Given the description of an element on the screen output the (x, y) to click on. 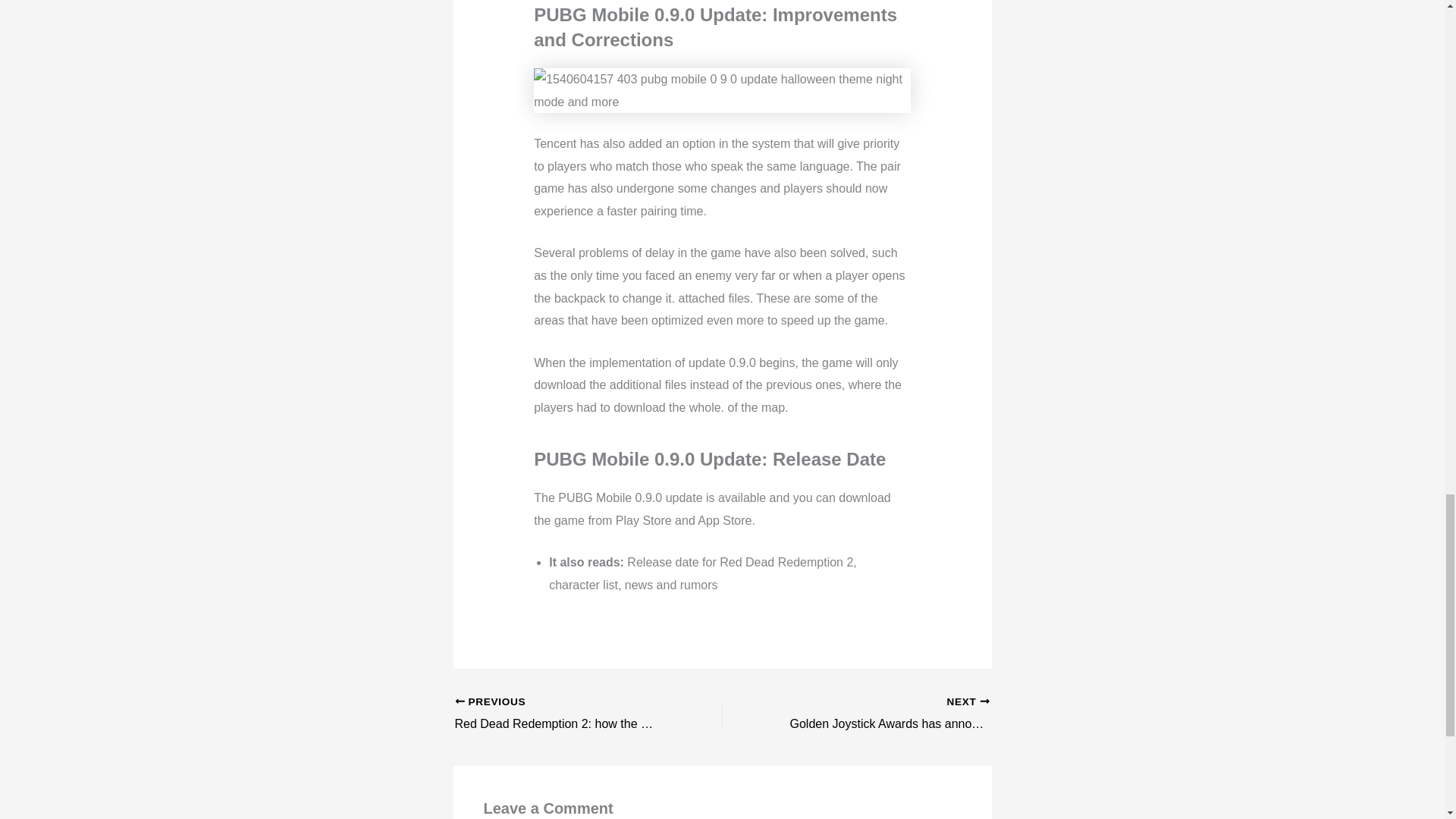
Golden Joystick Awards has announced its (882, 713)
